Given the description of an element on the screen output the (x, y) to click on. 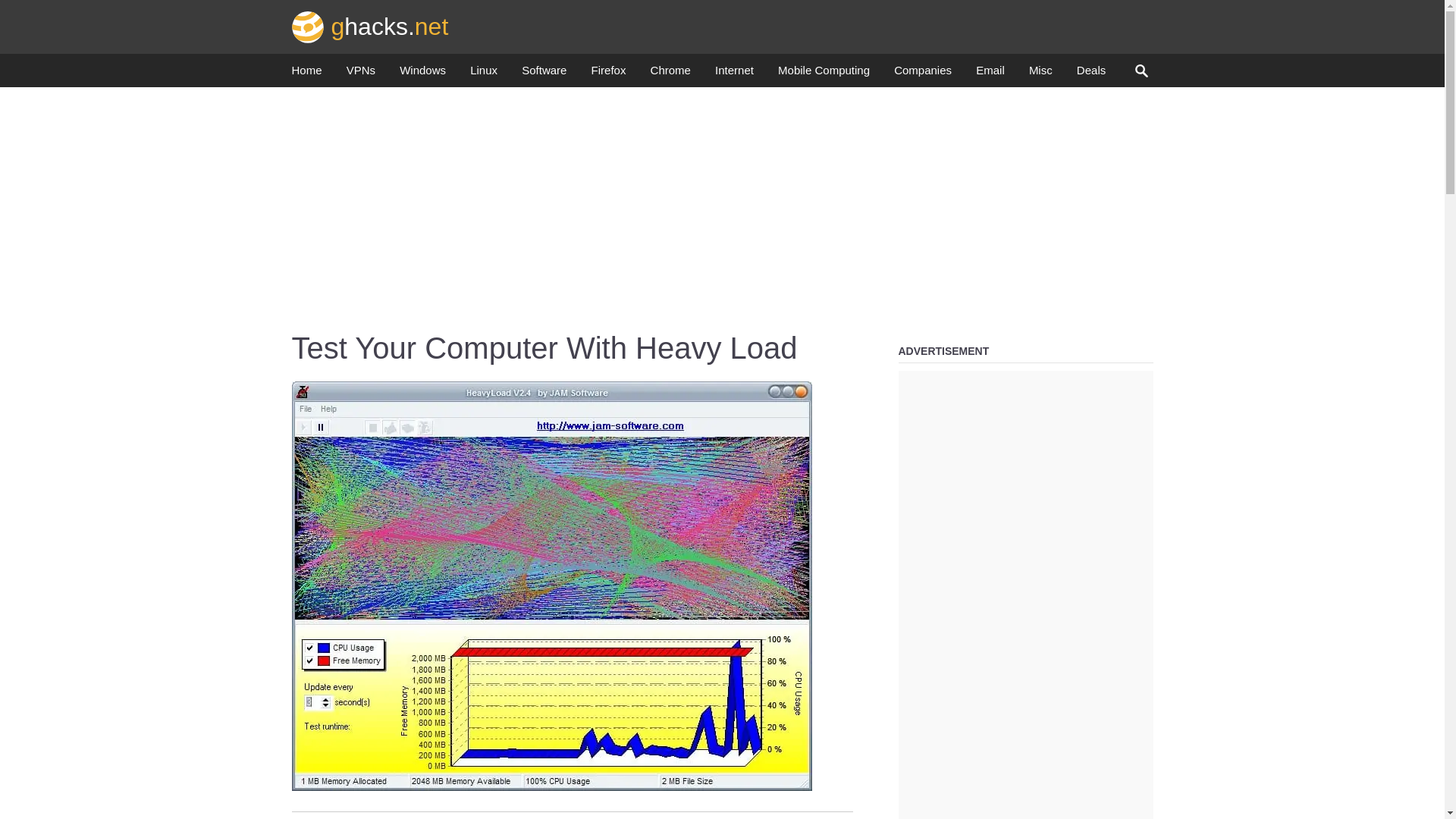
Internet (734, 73)
Misc (1040, 73)
Home (306, 73)
Email (989, 73)
Deals (1091, 73)
Software (543, 73)
Companies (922, 73)
VPNs (360, 73)
Mobile Computing (823, 73)
Chrome (670, 73)
Windows (421, 73)
ghacks.net (369, 26)
Linux (483, 73)
Firefox (608, 73)
